Given the description of an element on the screen output the (x, y) to click on. 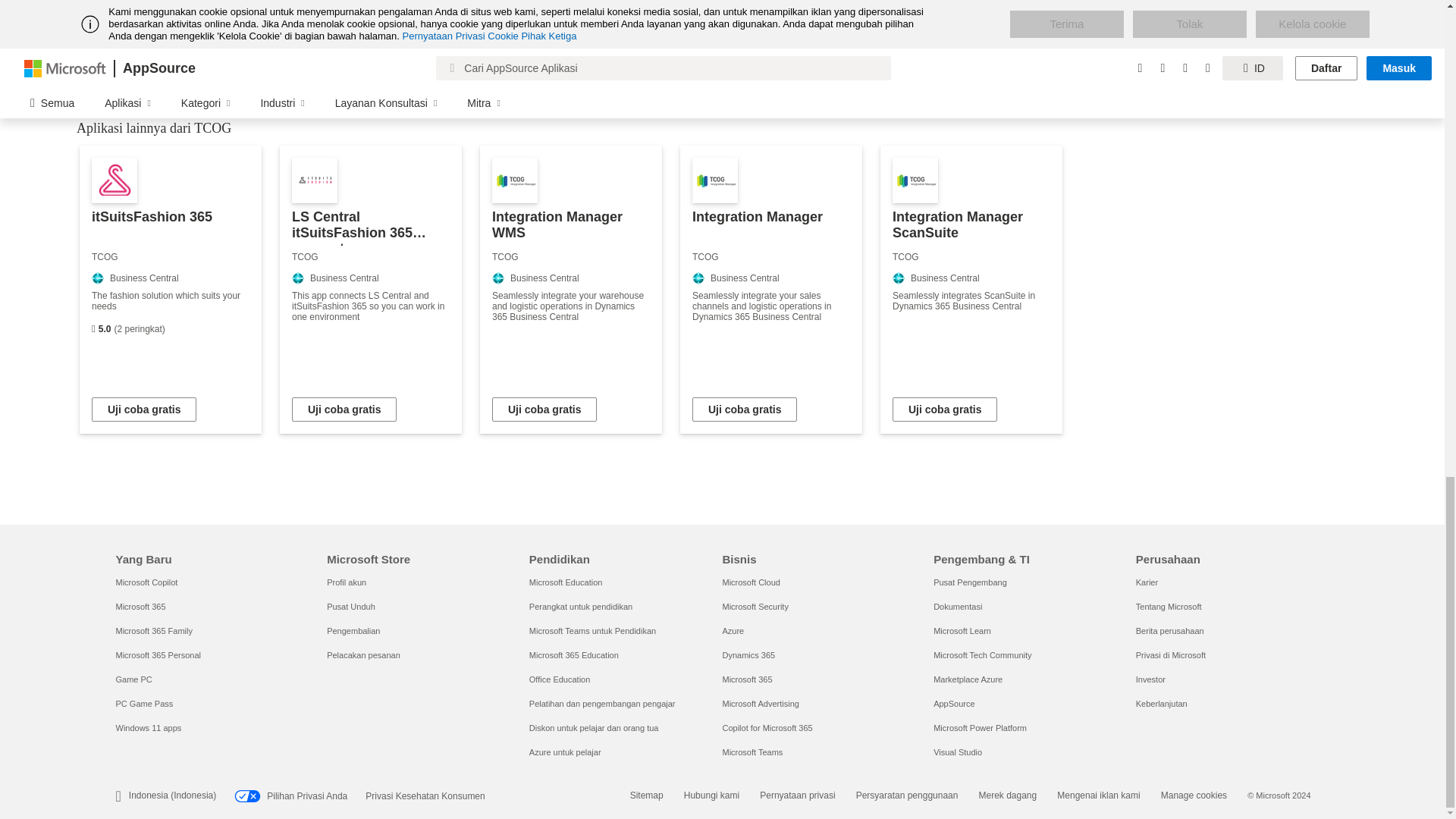
Uji coba gratis (143, 409)
Uji coba gratis (744, 409)
Uji coba gratis (544, 409)
Uji coba gratis (944, 409)
Uji coba gratis (344, 409)
